Given the description of an element on the screen output the (x, y) to click on. 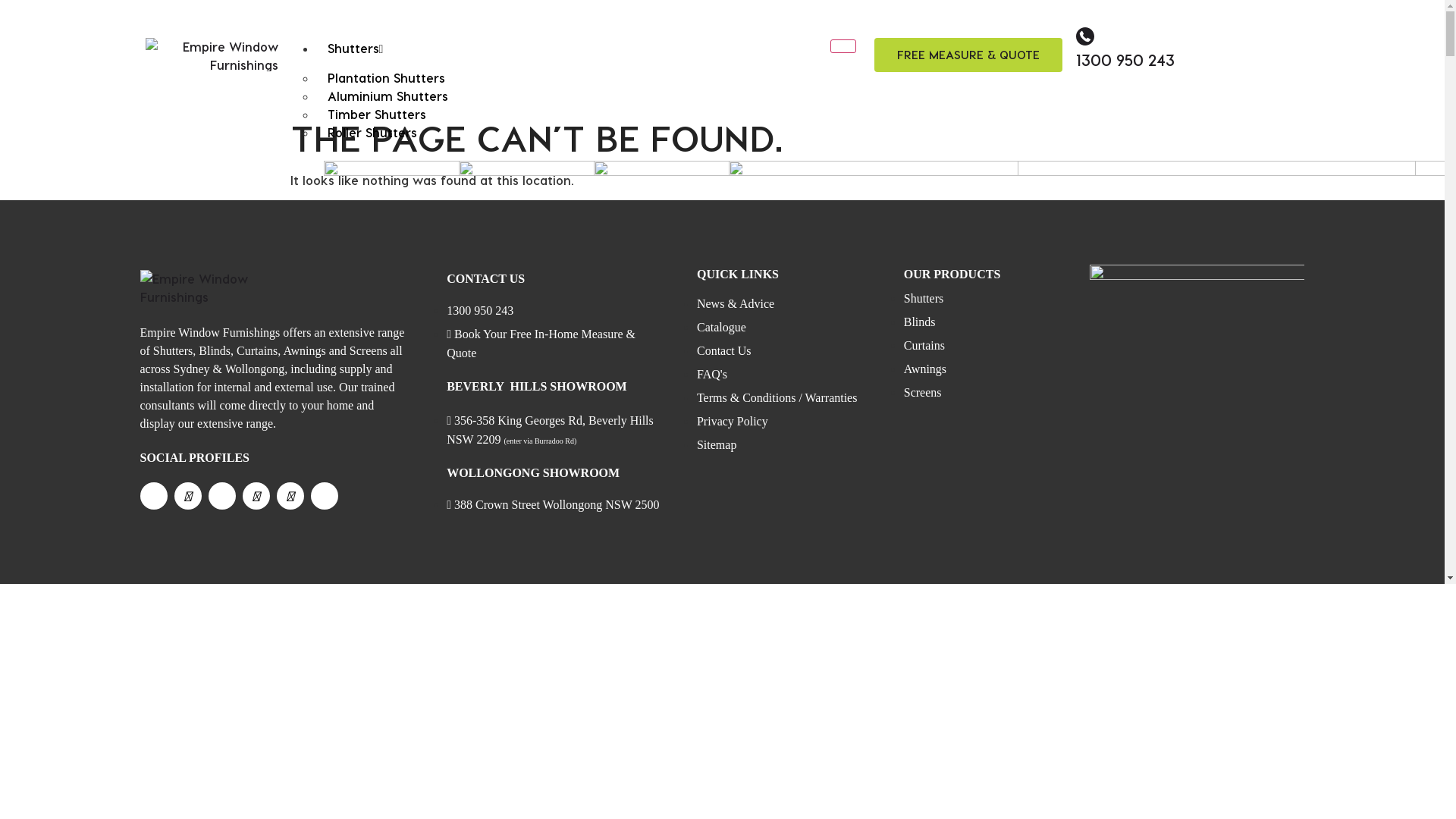
TIMBER SHUTTERS Element type: text (646, 366)
Sitemap Element type: text (716, 444)
FREE MEASURE & QUOTE Element type: text (967, 54)
Shutters Element type: text (923, 297)
Blinds Element type: text (214, 350)
Privacy Policy Element type: text (732, 420)
FAQ's Element type: text (711, 373)
Catalogue Element type: text (721, 326)
ROLLER SHUTTERS Element type: text (782, 778)
Book Your Free In-Home Measure & Quote Element type: text (540, 343)
Awnings Element type: text (304, 350)
Timber Shutters Element type: text (375, 113)
Awnings Element type: text (924, 368)
Aluminium Shutters Element type: text (386, 95)
PLANTATION SHUTTERS Element type: text (369, 591)
Terms & Conditions / Warranties Element type: text (776, 397)
388 Crown Street Wollongong NSW 2500 Element type: text (552, 504)
Shutters Element type: text (172, 350)
Shutters Element type: text (354, 47)
1300 950 243 Element type: text (479, 310)
1300 950 243 Element type: text (1125, 59)
Contact Us Element type: text (723, 350)
Screens Element type: text (922, 391)
Roller Shutters Element type: text (371, 131)
News & Advice Element type: text (735, 303)
Plantation Shutters Element type: text (385, 77)
Curtains, Element type: text (258, 350)
Blinds Element type: text (919, 321)
Curtains Element type: text (923, 344)
Screens Element type: text (368, 350)
